Given the description of an element on the screen output the (x, y) to click on. 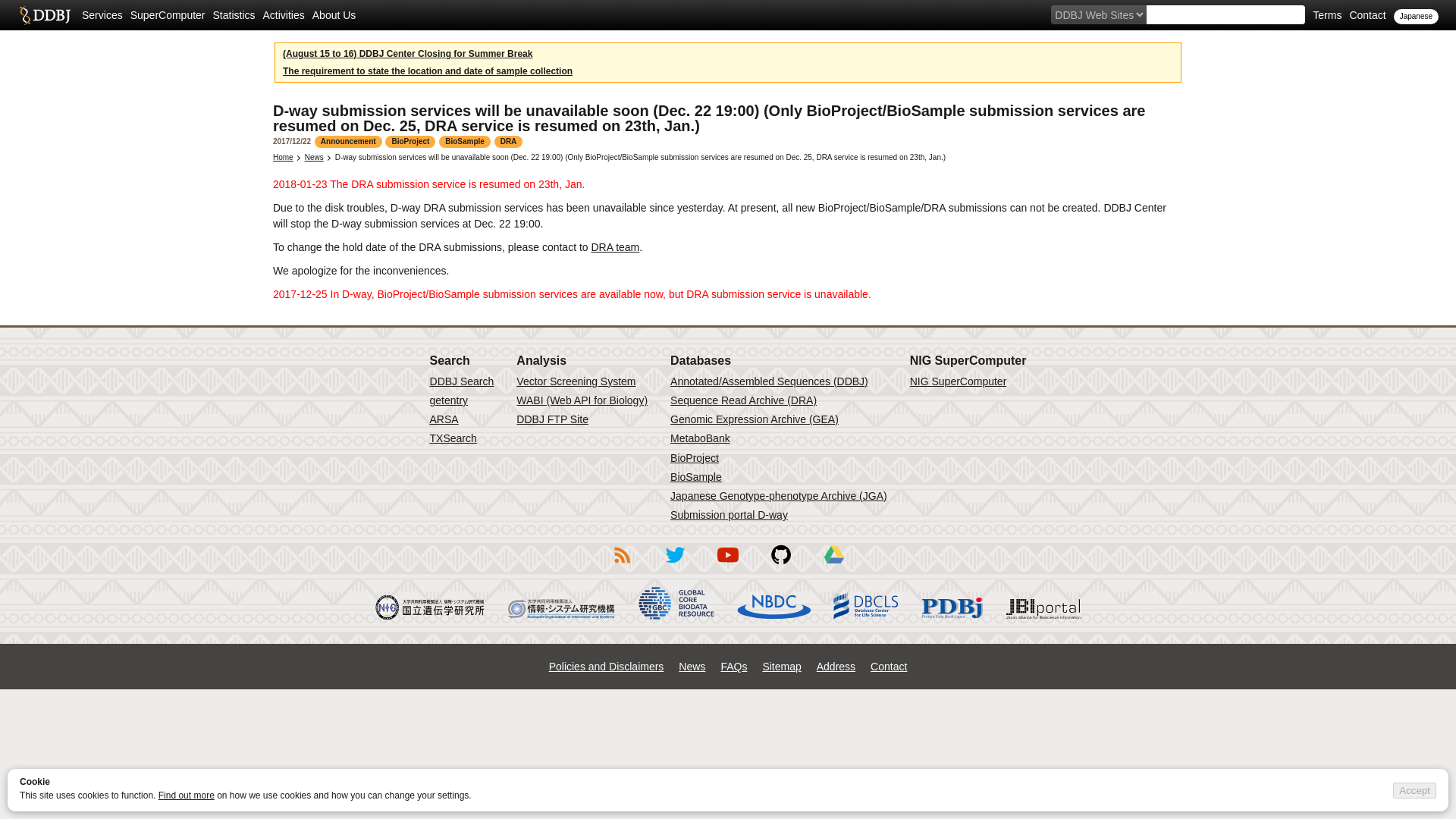
Screen vector sequences (575, 381)
Japanese Genotype-phenotype Archive (777, 495)
News (313, 157)
Terms (1326, 15)
BioProject (694, 458)
NIG SuperComputer (958, 381)
Submission portal D-way (728, 514)
About Us (334, 15)
Japanese (1415, 16)
Vector Screening System (575, 381)
Home (283, 157)
Public repository for metabolomics data (699, 438)
Web API for using the search services of DDB (581, 399)
SuperComputer (168, 15)
Search unified taxonomy database. (453, 438)
